Given the description of an element on the screen output the (x, y) to click on. 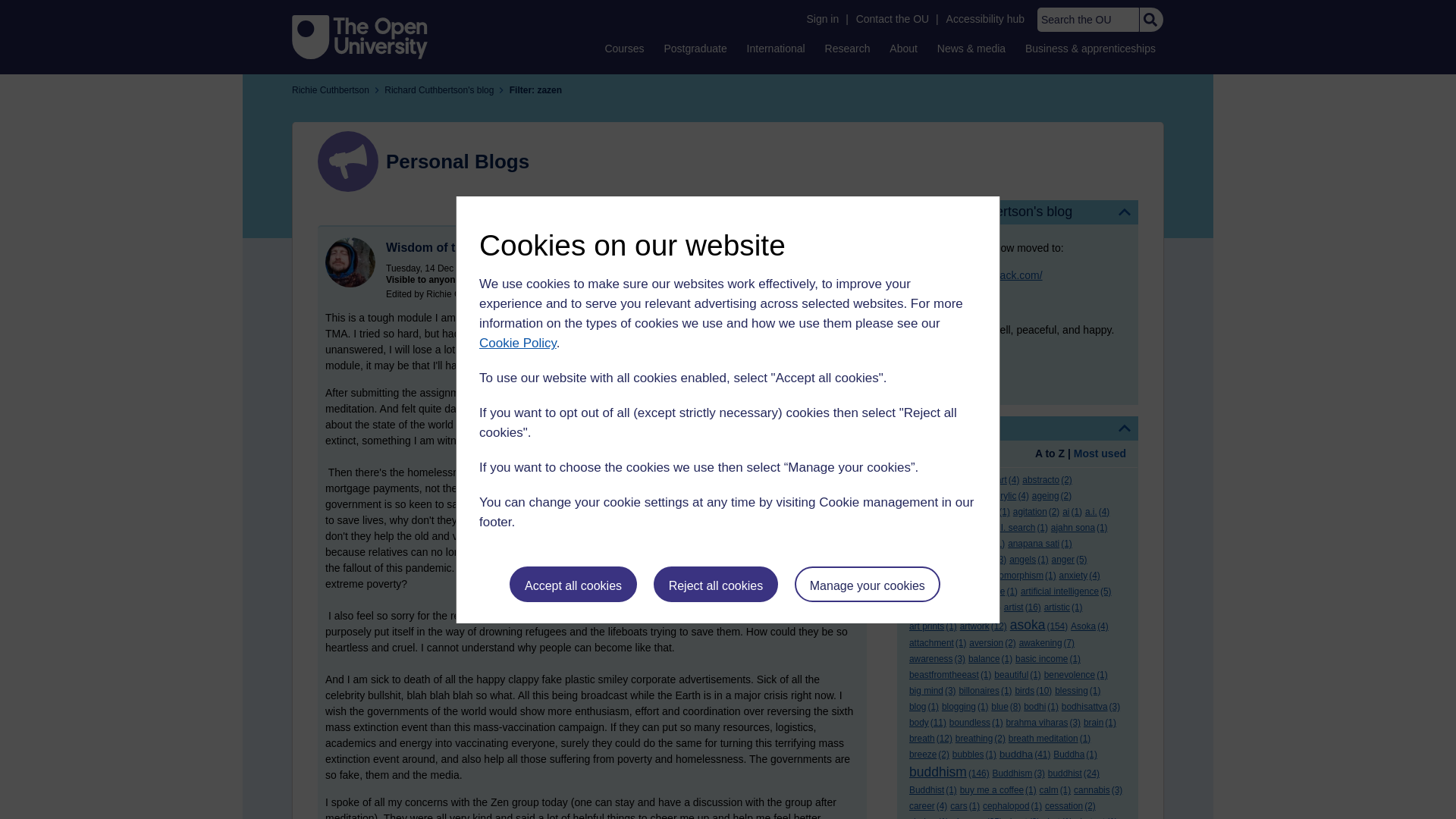
Contact the OU (892, 19)
Courses (623, 48)
Richard Cuthbertson's blog (1017, 211)
Manage your cookies (867, 583)
The Open University (360, 36)
Search (1149, 19)
International (775, 48)
Research (847, 48)
Search (1149, 19)
Help with Order: (951, 454)
Postgraduate (695, 48)
About (903, 48)
Reject all cookies (715, 583)
Sign in (822, 19)
